Given the description of an element on the screen output the (x, y) to click on. 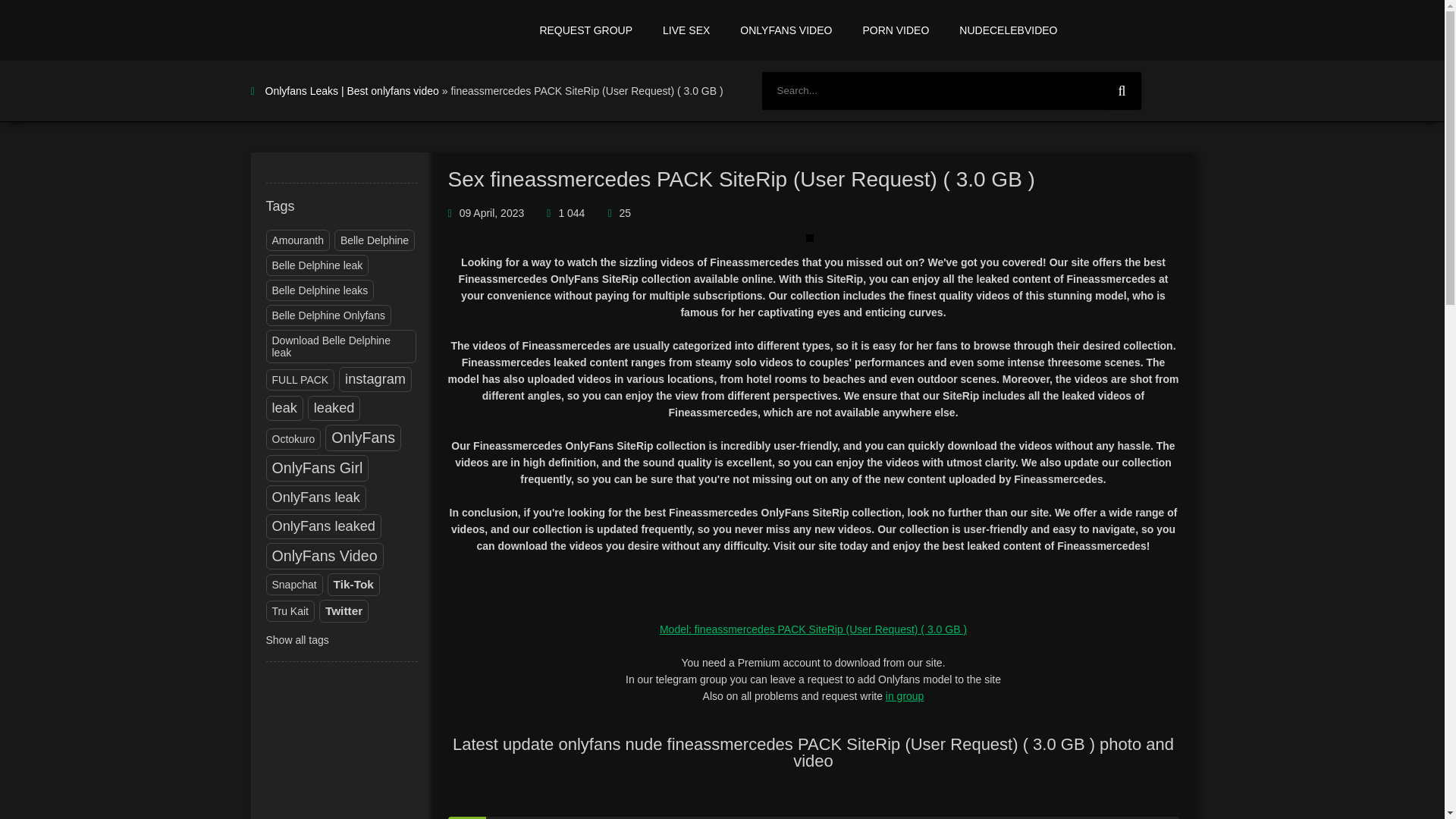
LIVE SEX (686, 30)
Publication found: 23928 (374, 379)
Publication found: 23934 (317, 467)
Publication found: 39 (297, 240)
Publication found: 22 (340, 346)
OnlyFans Girl (317, 467)
OnlyFans leak (315, 497)
Home (356, 30)
Belle Delphine (373, 240)
Publication found: 23892 (333, 408)
Publication found: 832 (300, 379)
Publication found: 23879 (315, 497)
FULL PACK (300, 379)
leaked (333, 408)
Download Belle Delphine leak (340, 346)
